Given the description of an element on the screen output the (x, y) to click on. 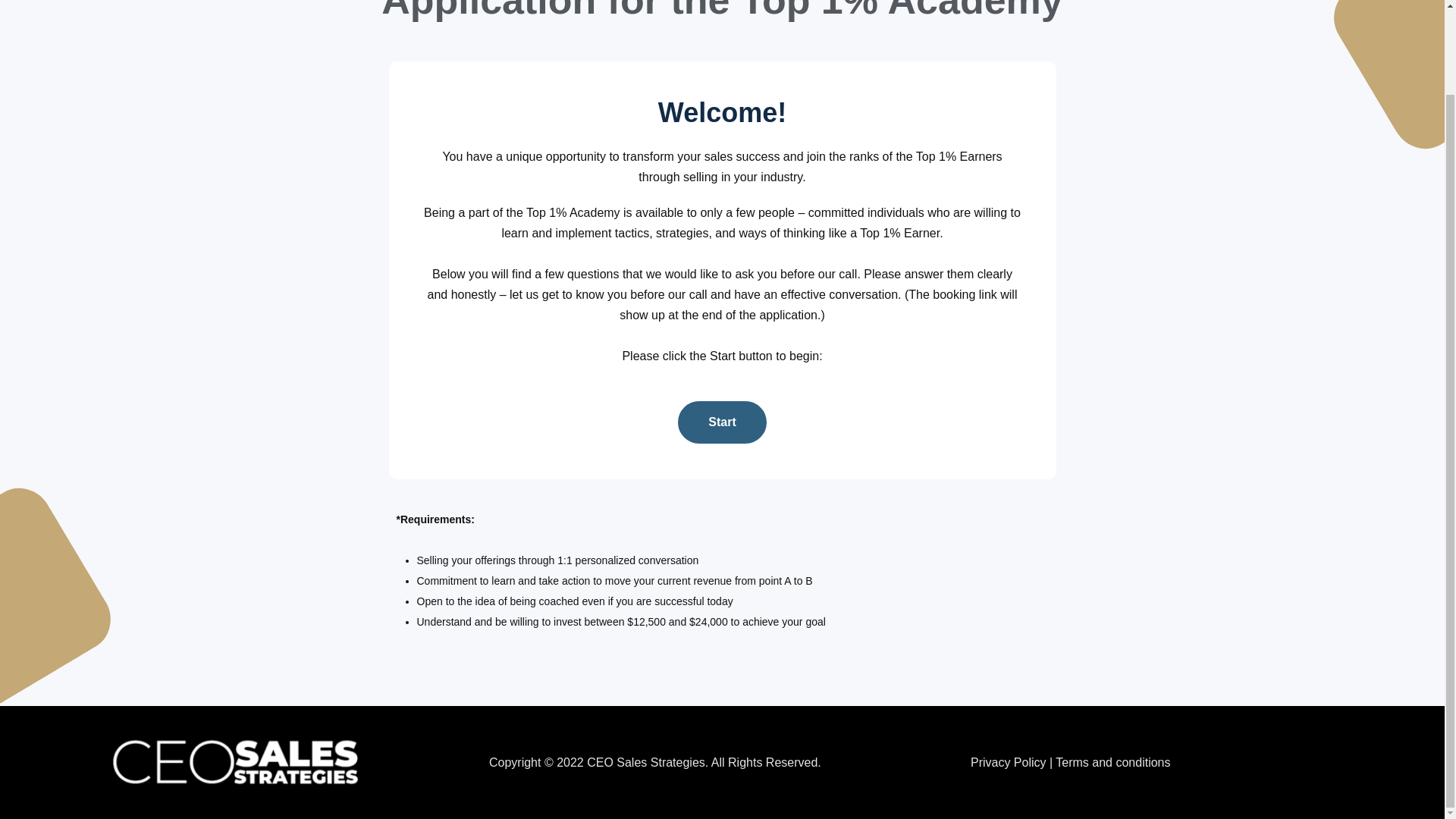
Privacy Policy (1008, 762)
Start (722, 422)
Terms and conditions (1112, 762)
